Given the description of an element on the screen output the (x, y) to click on. 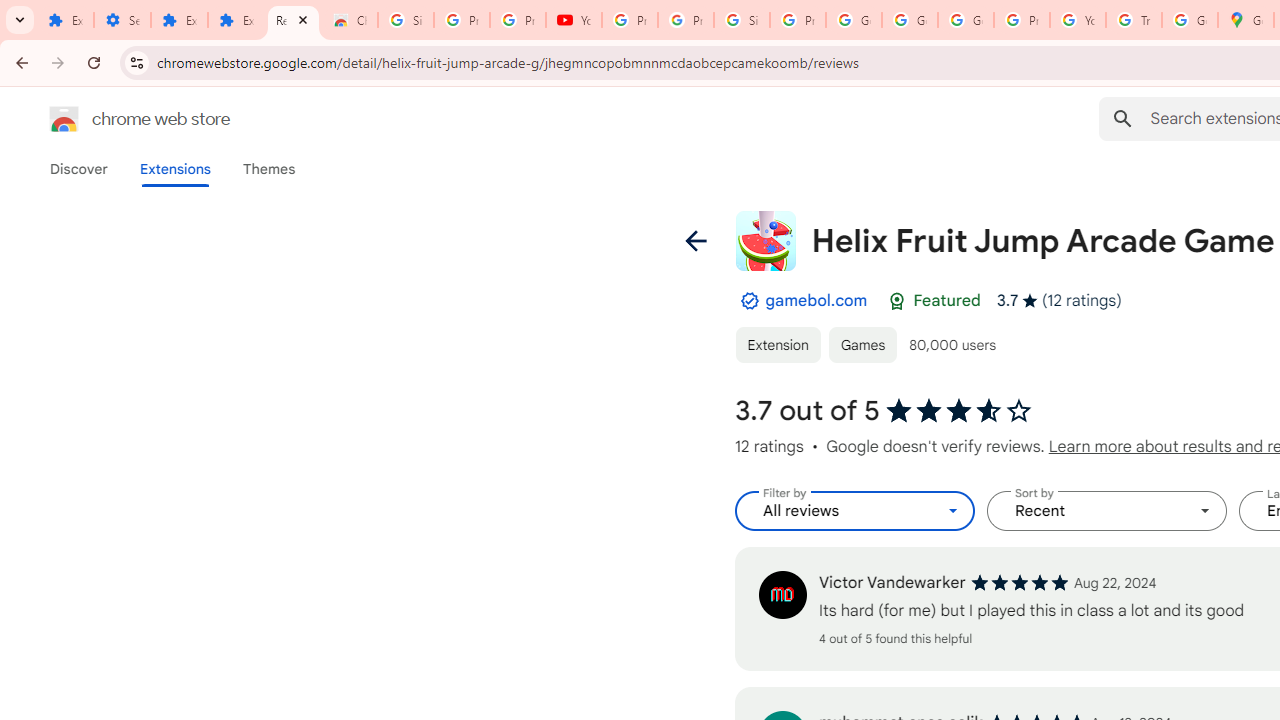
Google Account (853, 20)
Extension (777, 344)
